Given the description of an element on the screen output the (x, y) to click on. 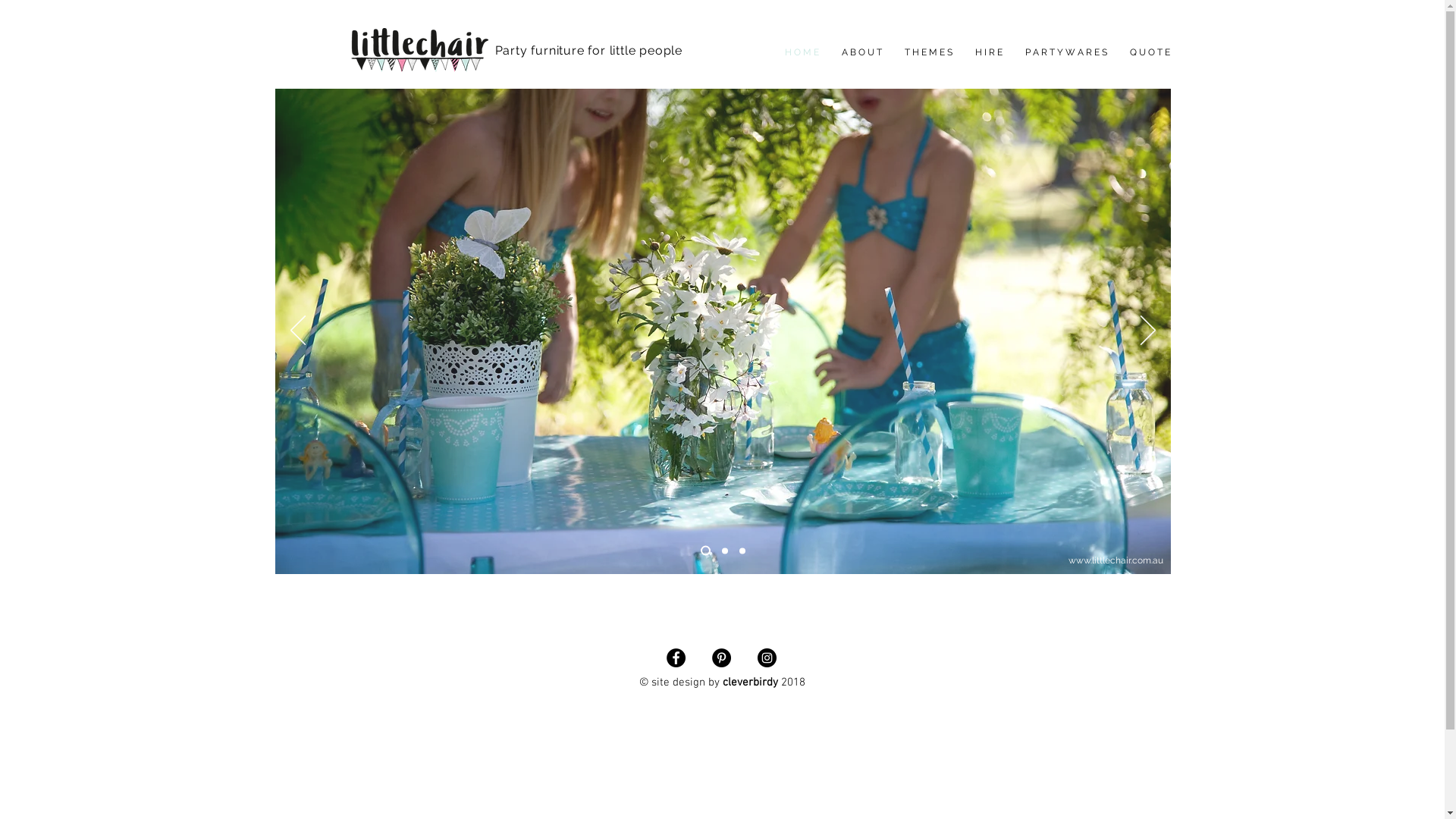
T H E M E S Element type: text (928, 52)
Ivanhoe Element type: text (510, 68)
cleverbirdy Element type: text (749, 682)
H I R E Element type: text (988, 52)
P A R T Y W A R E S Element type: text (1065, 52)
H O M E Element type: text (801, 52)
www.littlechair.com.au Element type: text (1114, 560)
Q U O T E Element type: text (1148, 52)
A B O U T Element type: text (860, 52)
